Given the description of an element on the screen output the (x, y) to click on. 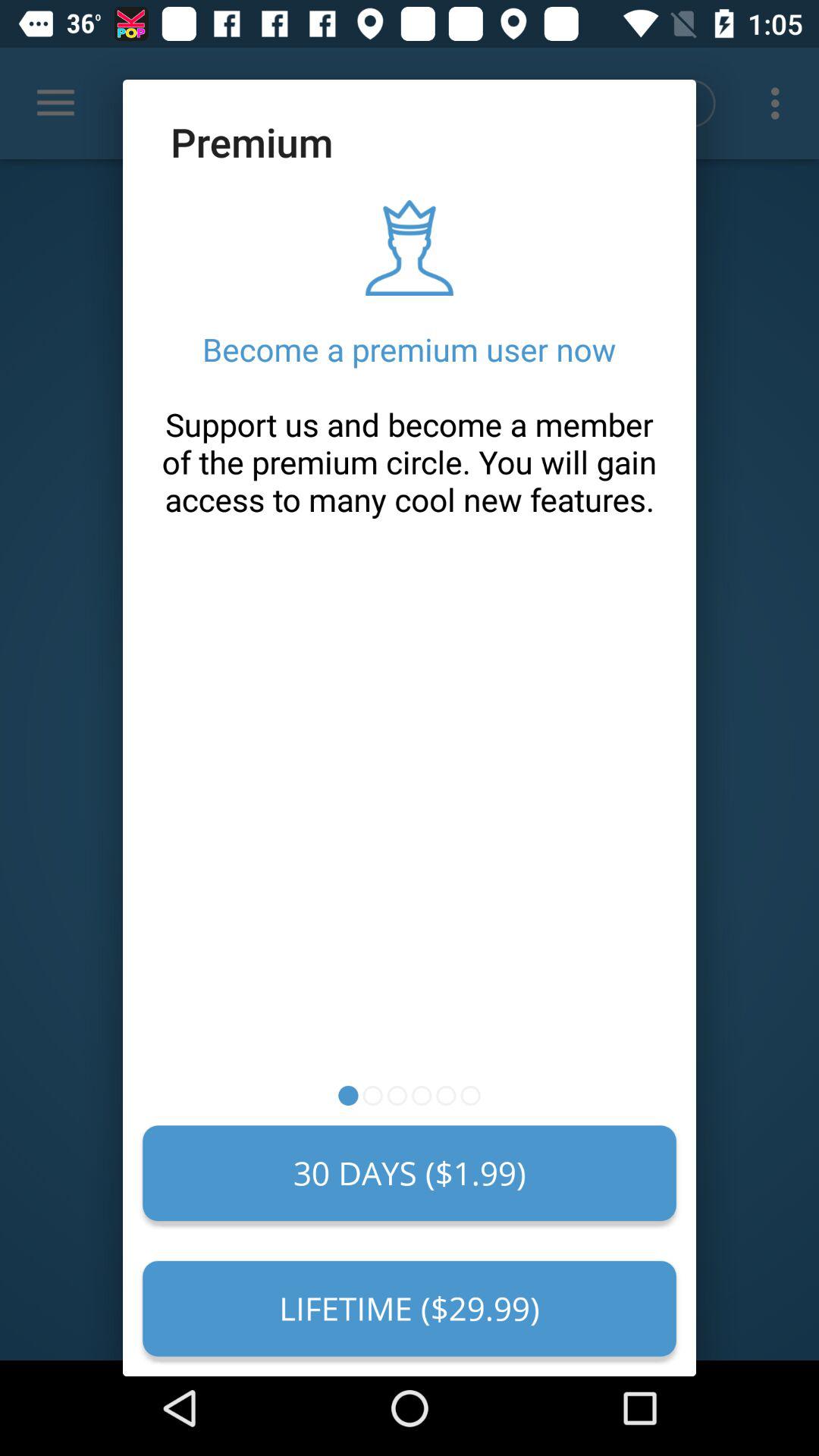
swipe to the 30 days 1 icon (409, 1173)
